Given the description of an element on the screen output the (x, y) to click on. 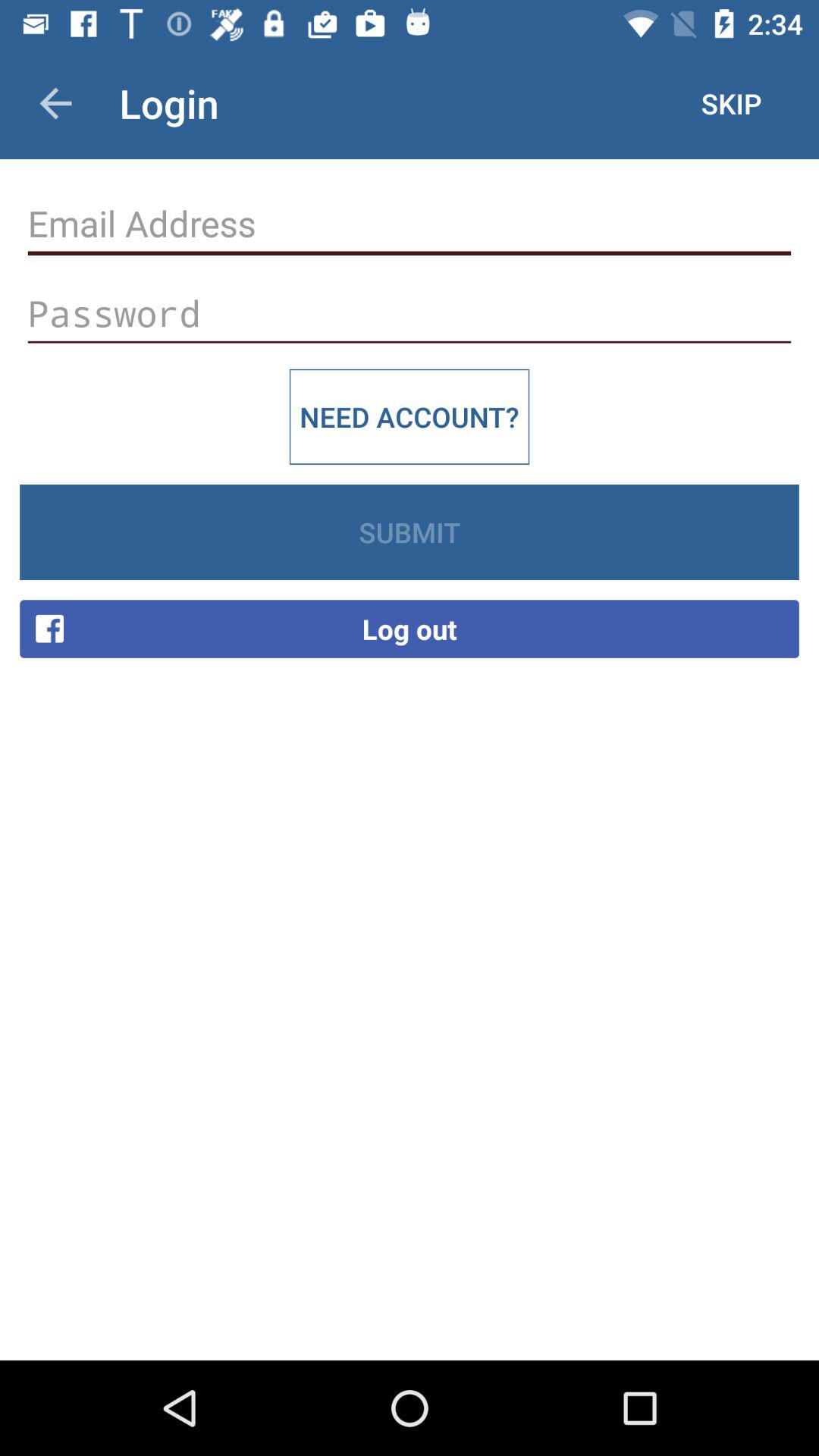
insert the password (409, 313)
